Given the description of an element on the screen output the (x, y) to click on. 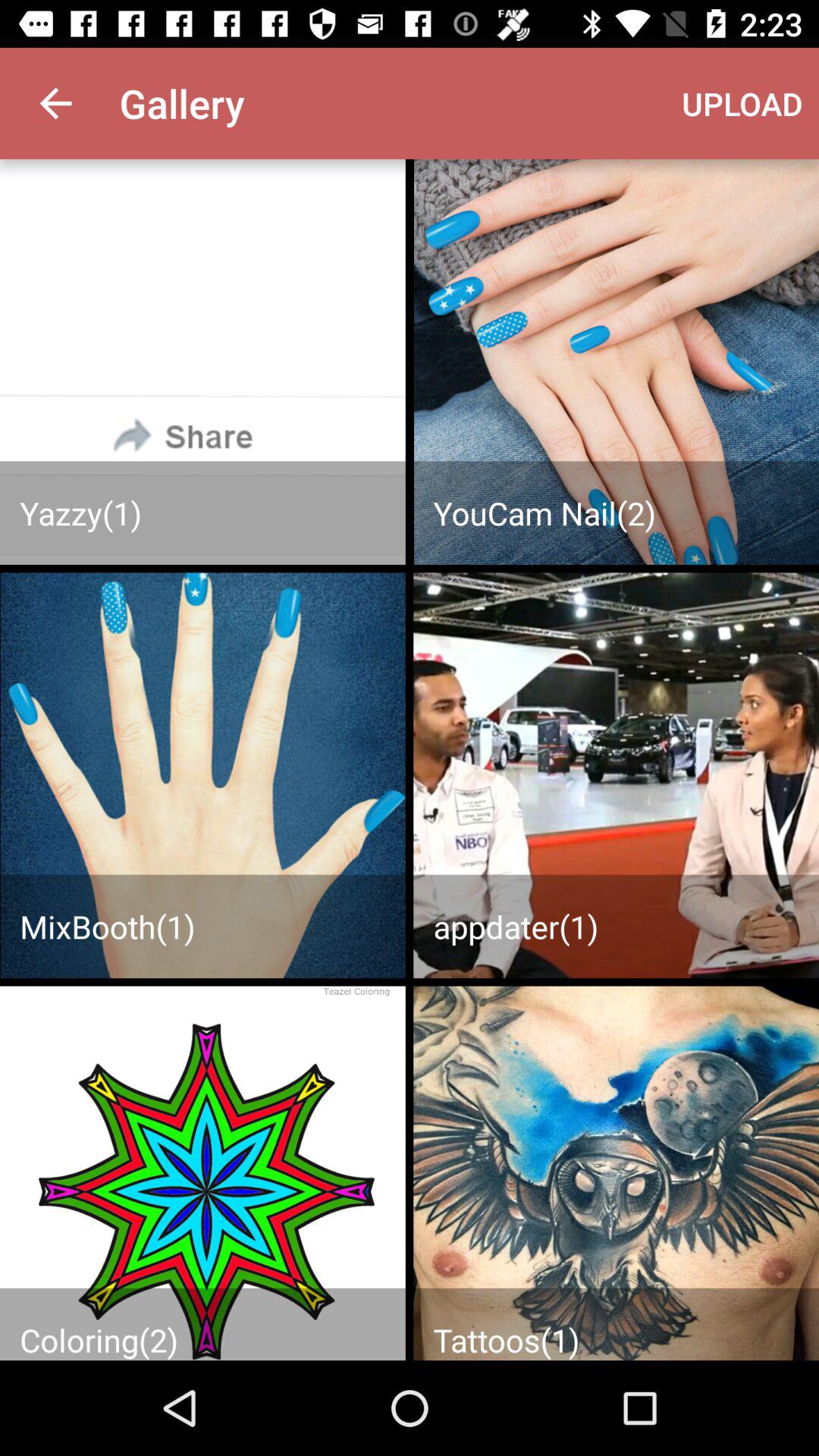
select option (202, 1173)
